Given the description of an element on the screen output the (x, y) to click on. 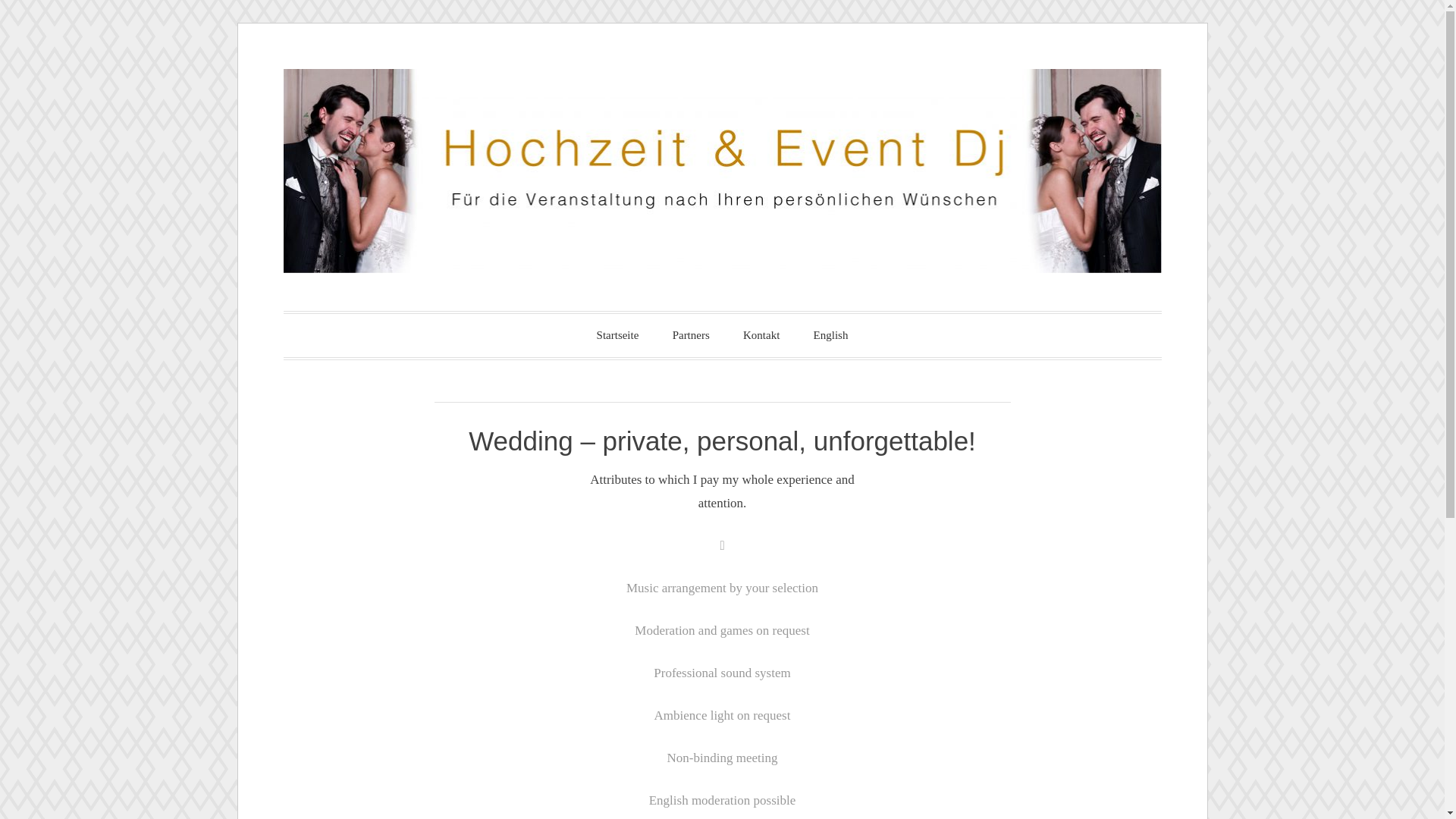
Partners Element type: text (690, 335)
English Element type: text (830, 335)
Hochzeit & Event Dj Element type: text (536, 334)
Startseite Element type: text (617, 335)
Zum Inhalt springen Element type: text (238, 69)
Kontakt Element type: text (761, 335)
